Given the description of an element on the screen output the (x, y) to click on. 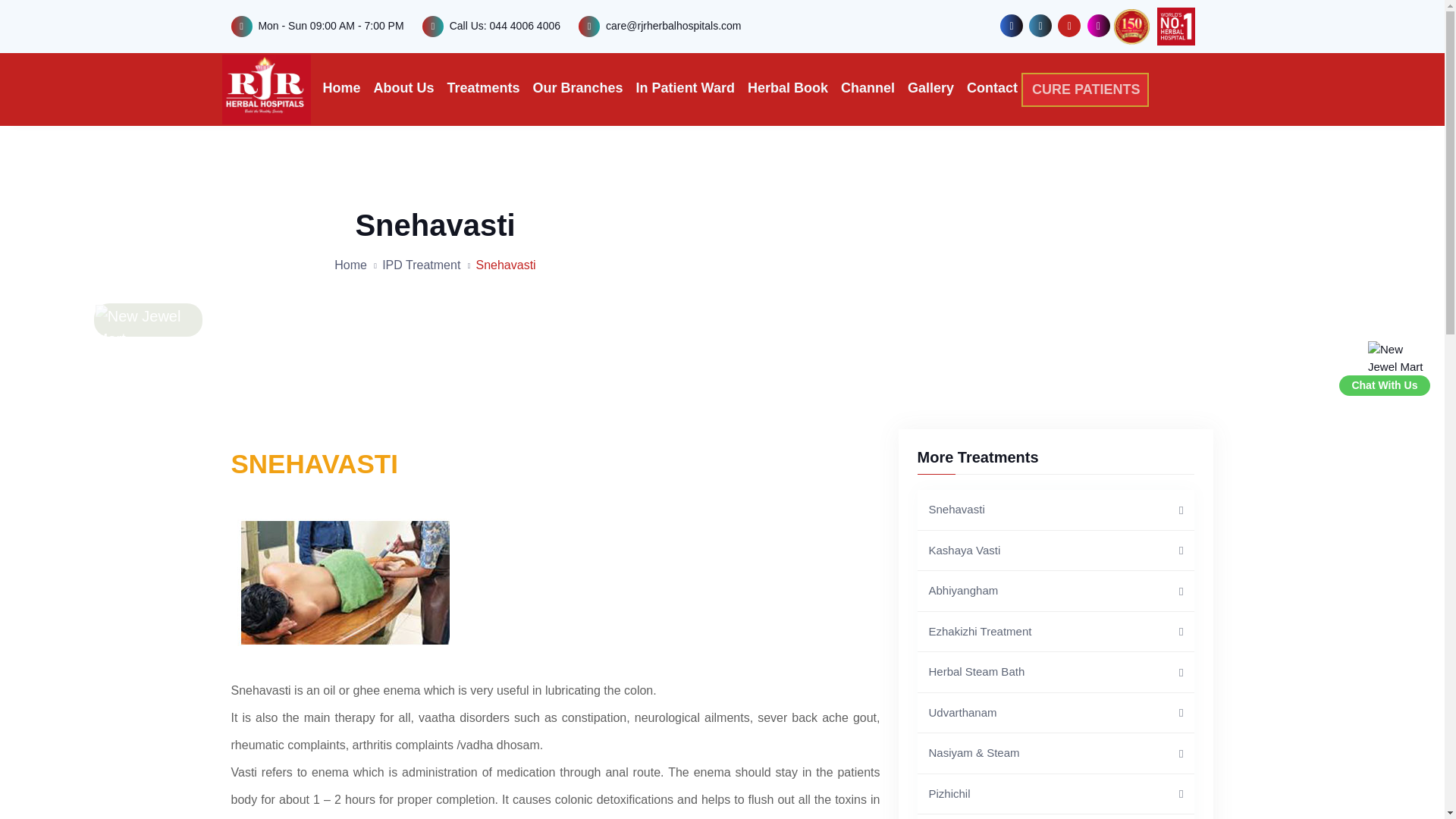
New Jewel Mart (148, 327)
About Us (403, 87)
New Jewel Mart (1398, 358)
044 4006 4006 (524, 25)
Treatments (482, 87)
Home (342, 87)
